Given the description of an element on the screen output the (x, y) to click on. 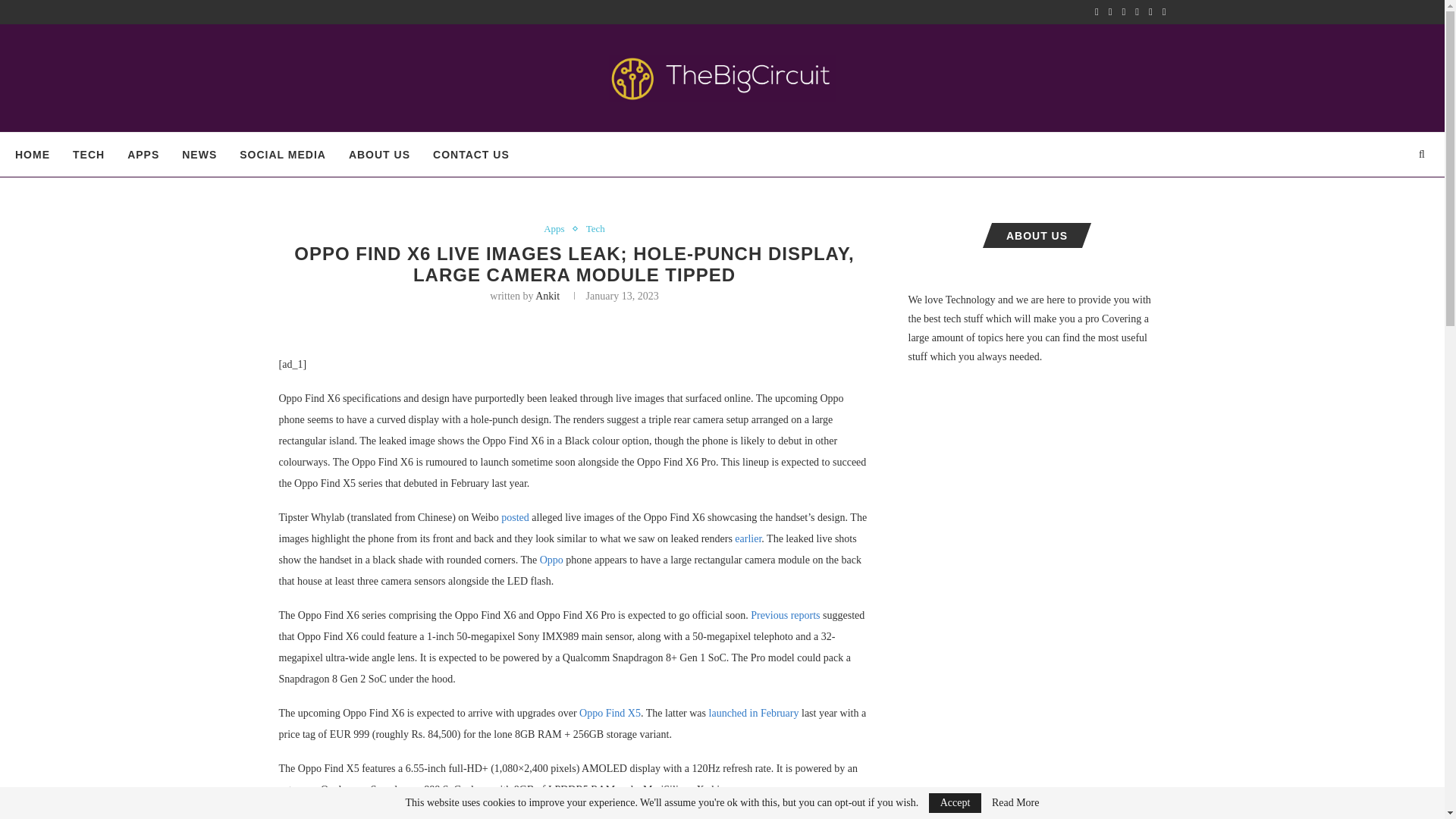
Tech (595, 228)
Ankit (547, 296)
Previous reports (785, 614)
ABOUT US (379, 154)
SOCIAL MEDIA (283, 154)
posted (514, 517)
earlier (748, 538)
Oppo (551, 559)
CONTACT US (470, 154)
Apps (557, 228)
